Given the description of an element on the screen output the (x, y) to click on. 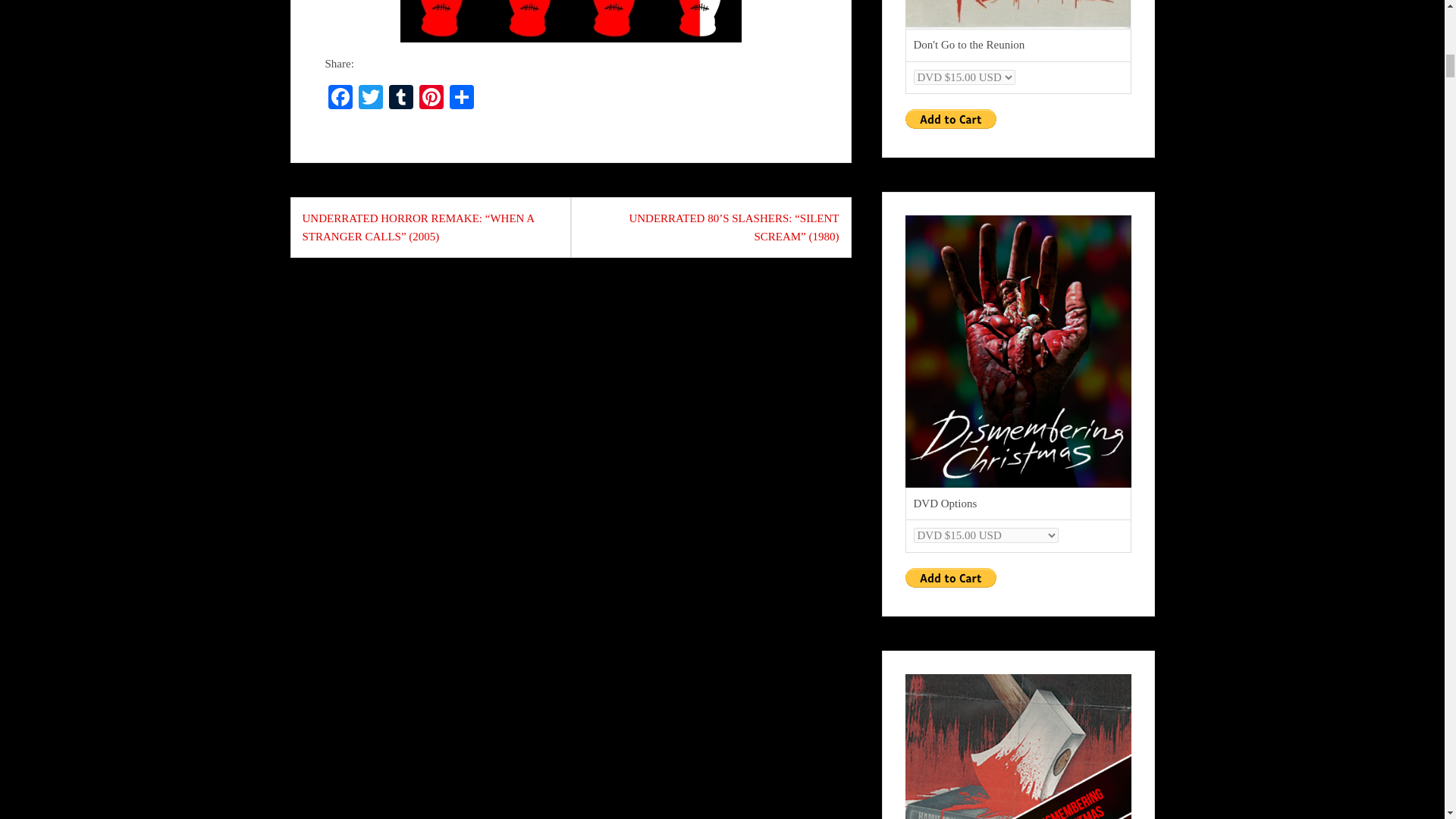
Facebook (339, 99)
Pinterest (429, 99)
Twitter (370, 99)
Tumblr (399, 99)
Facebook (339, 99)
Twitter (370, 99)
3.5 (570, 21)
Tumblr (399, 99)
Share (460, 99)
Pinterest (429, 99)
